Given the description of an element on the screen output the (x, y) to click on. 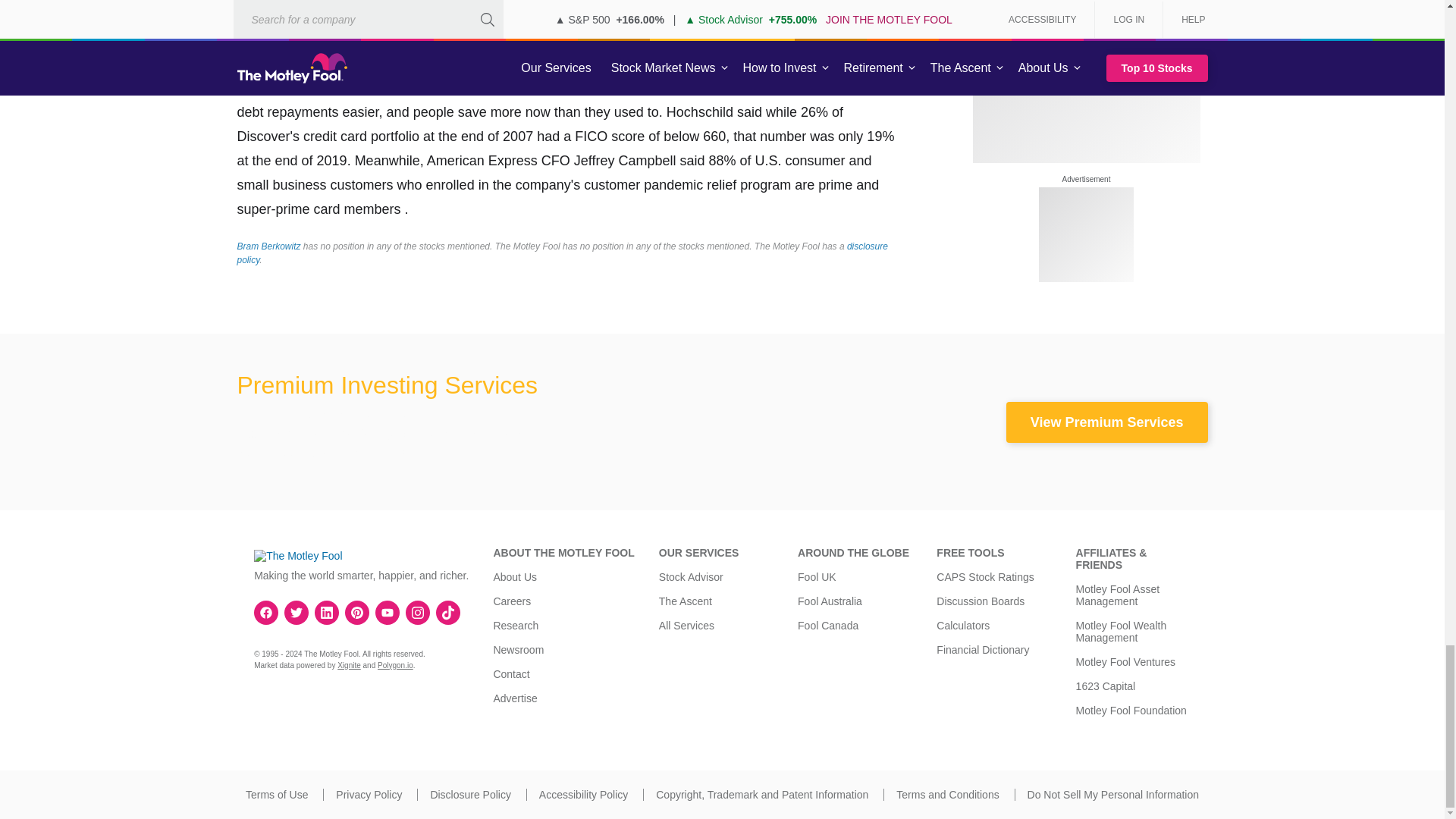
Terms of Use (276, 794)
Do Not Sell My Personal Information. (1112, 794)
Terms and Conditions (947, 794)
Disclosure Policy (470, 794)
Privacy Policy (368, 794)
Copyright, Trademark and Patent Information (761, 794)
Accessibility Policy (582, 794)
